Given the description of an element on the screen output the (x, y) to click on. 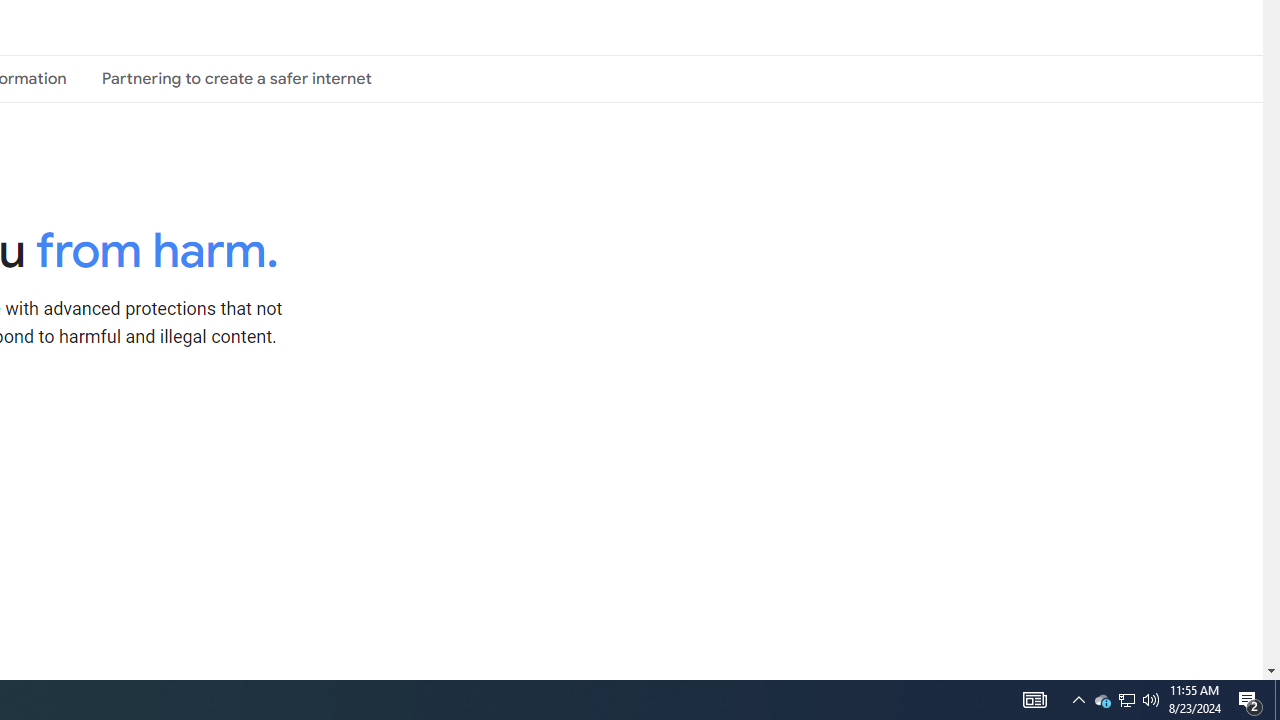
Expand All (459, 428)
Partnering to create a safer internet (236, 78)
